Given the description of an element on the screen output the (x, y) to click on. 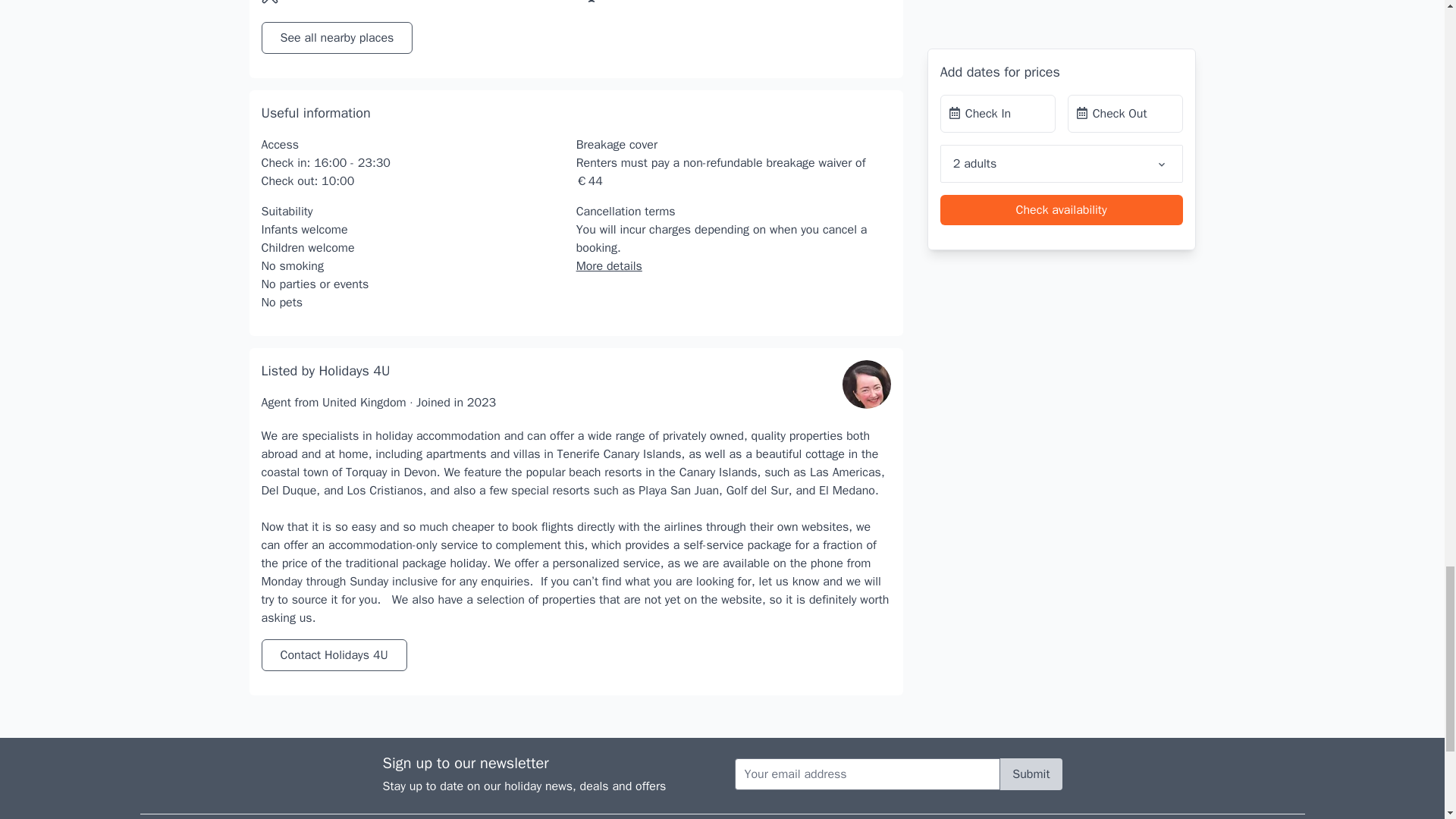
More details (609, 265)
